Given the description of an element on the screen output the (x, y) to click on. 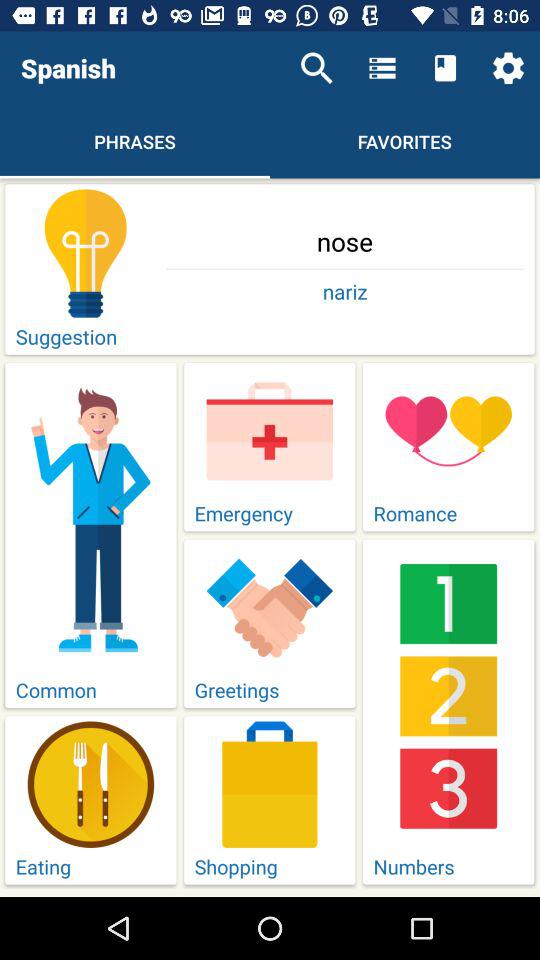
press the icon above the favorites item (381, 67)
